Given the description of an element on the screen output the (x, y) to click on. 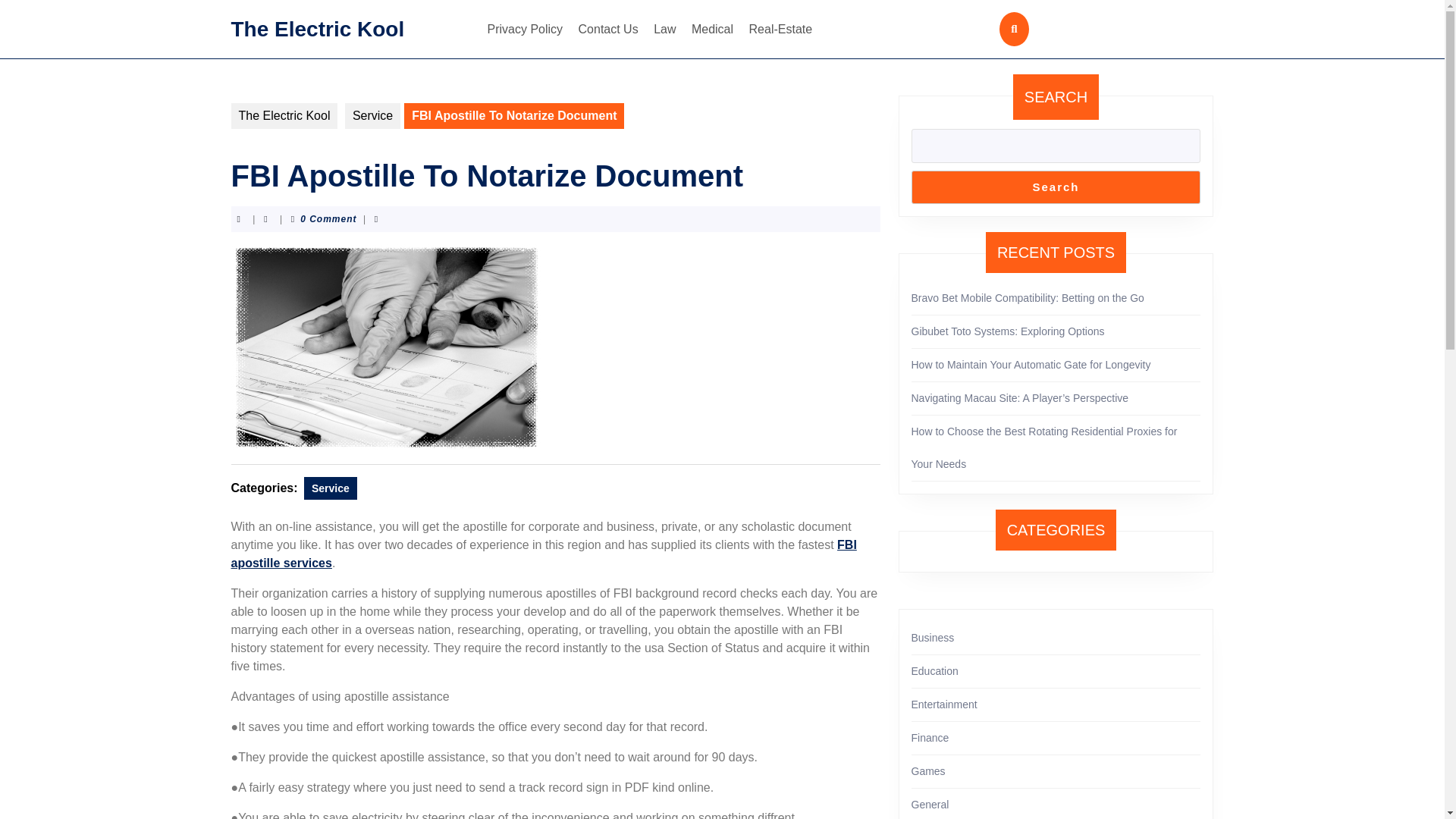
Bravo Bet Mobile Compatibility: Betting on the Go (1027, 297)
How to Maintain Your Automatic Gate for Longevity (1031, 364)
The Electric Kool (283, 115)
Business (933, 637)
Service (330, 487)
Contact Us (608, 28)
Real-Estate (780, 28)
Privacy Policy (524, 28)
The Electric Kool (317, 28)
Medical (712, 28)
FBI apostille services (543, 553)
Education (934, 671)
Gibubet Toto Systems: Exploring Options (1008, 331)
Law (664, 28)
